Given the description of an element on the screen output the (x, y) to click on. 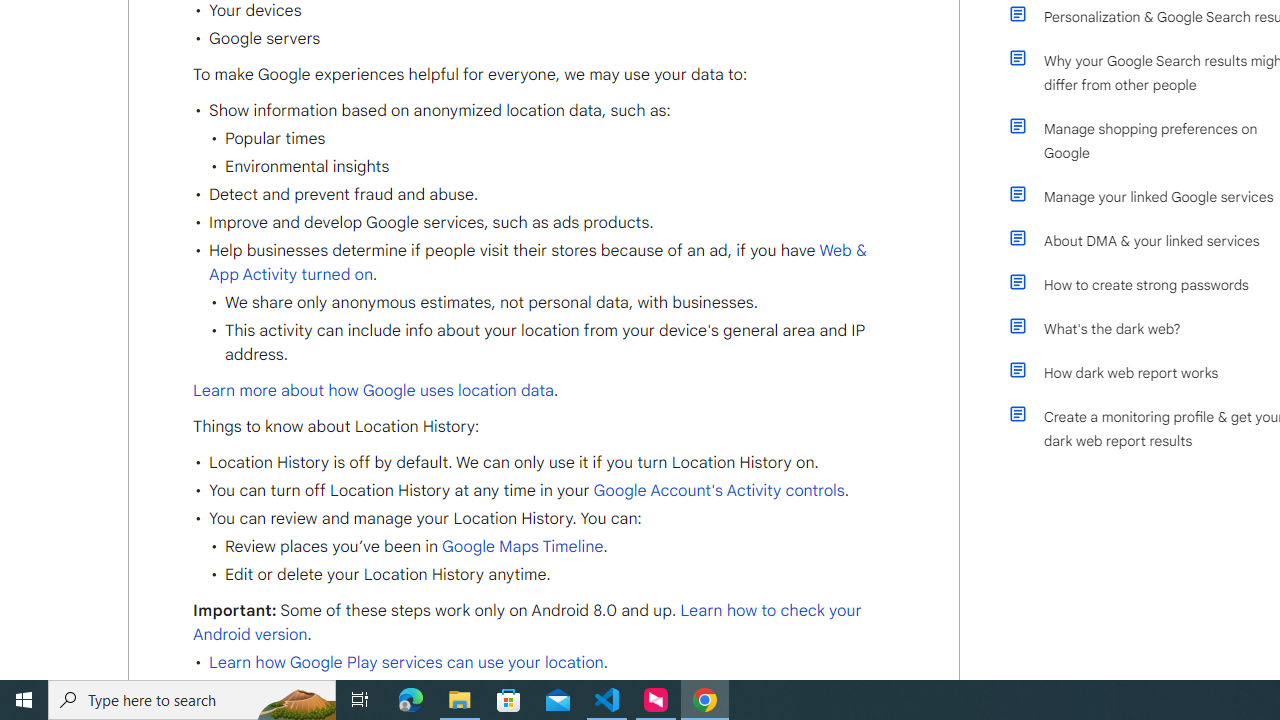
Google Maps Timeline (522, 547)
Web & App Activity turned on (537, 263)
 Google Account's Activity controls (716, 490)
Learn how to check your Android version (527, 623)
Learn how Google Play services can use your location (406, 663)
Learn more about how Google uses location data (373, 390)
